Given the description of an element on the screen output the (x, y) to click on. 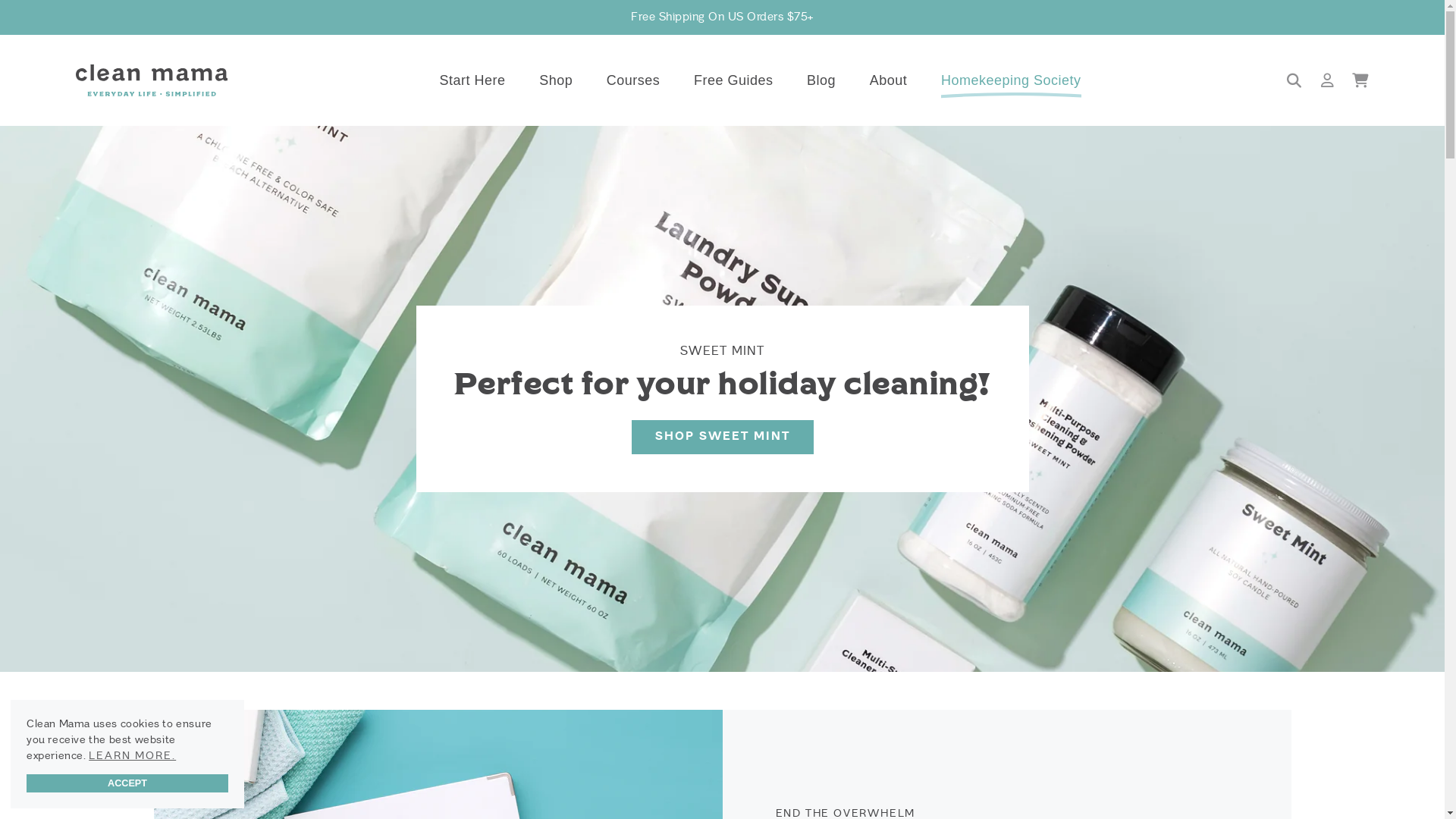
About Element type: text (888, 79)
LOG IN Element type: text (1327, 80)
Shop Element type: text (555, 79)
Free Guides Element type: text (733, 79)
Blog Element type: text (820, 79)
Homekeeping Society Element type: text (1011, 89)
ACCEPT Element type: text (127, 783)
CART Element type: text (1360, 80)
SHOP SWEET MINT Element type: text (721, 437)
LEARN MORE. Element type: text (131, 755)
Start Here Element type: text (472, 79)
Free Shipping On US Orders $75+ Element type: text (722, 17)
Courses Element type: text (633, 79)
